Given the description of an element on the screen output the (x, y) to click on. 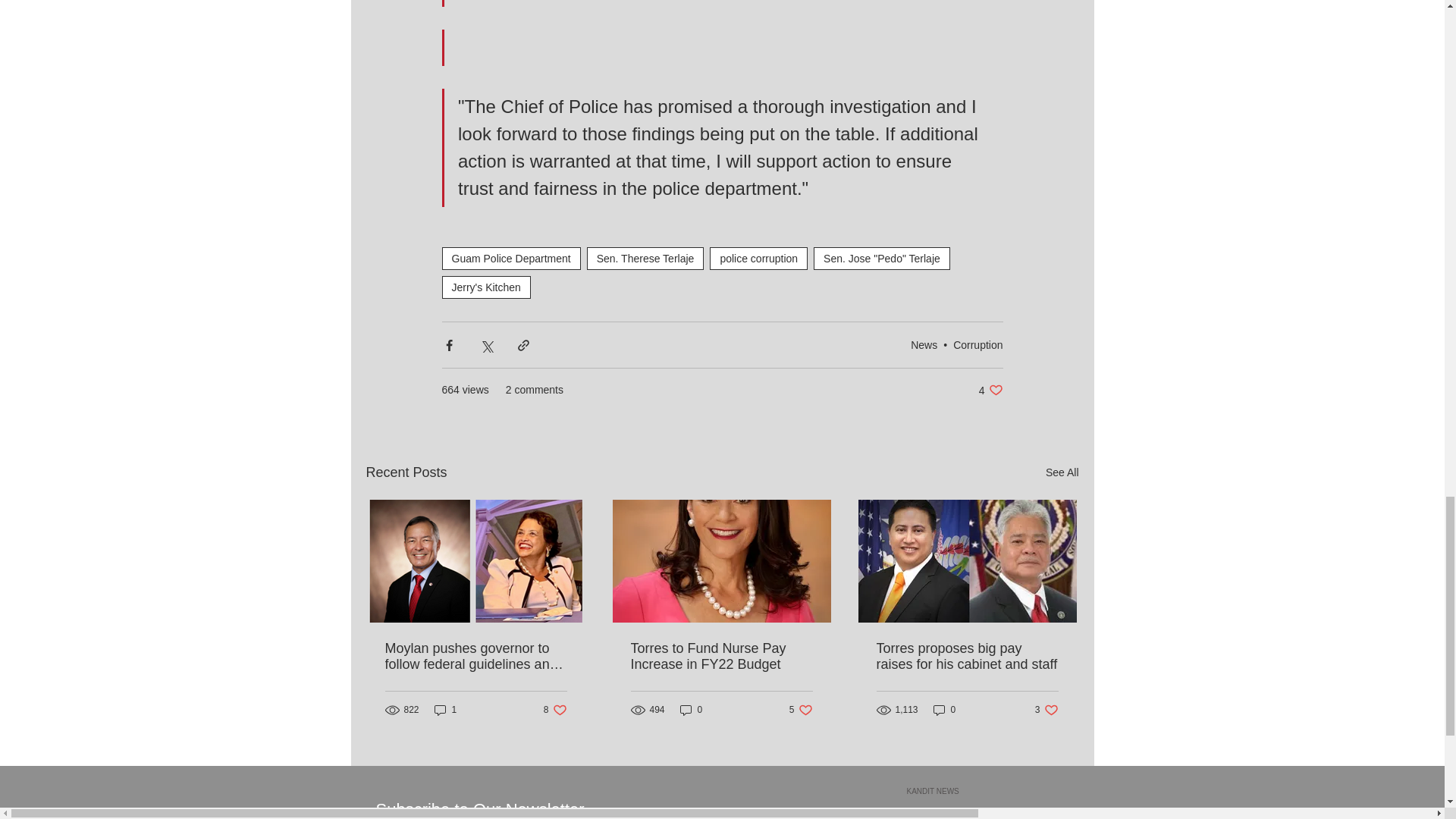
News (924, 344)
0 (691, 708)
0 (944, 708)
Sen. Therese Terlaje (645, 258)
Guam Police Department (1046, 708)
Jerry's Kitchen (510, 258)
